Given the description of an element on the screen output the (x, y) to click on. 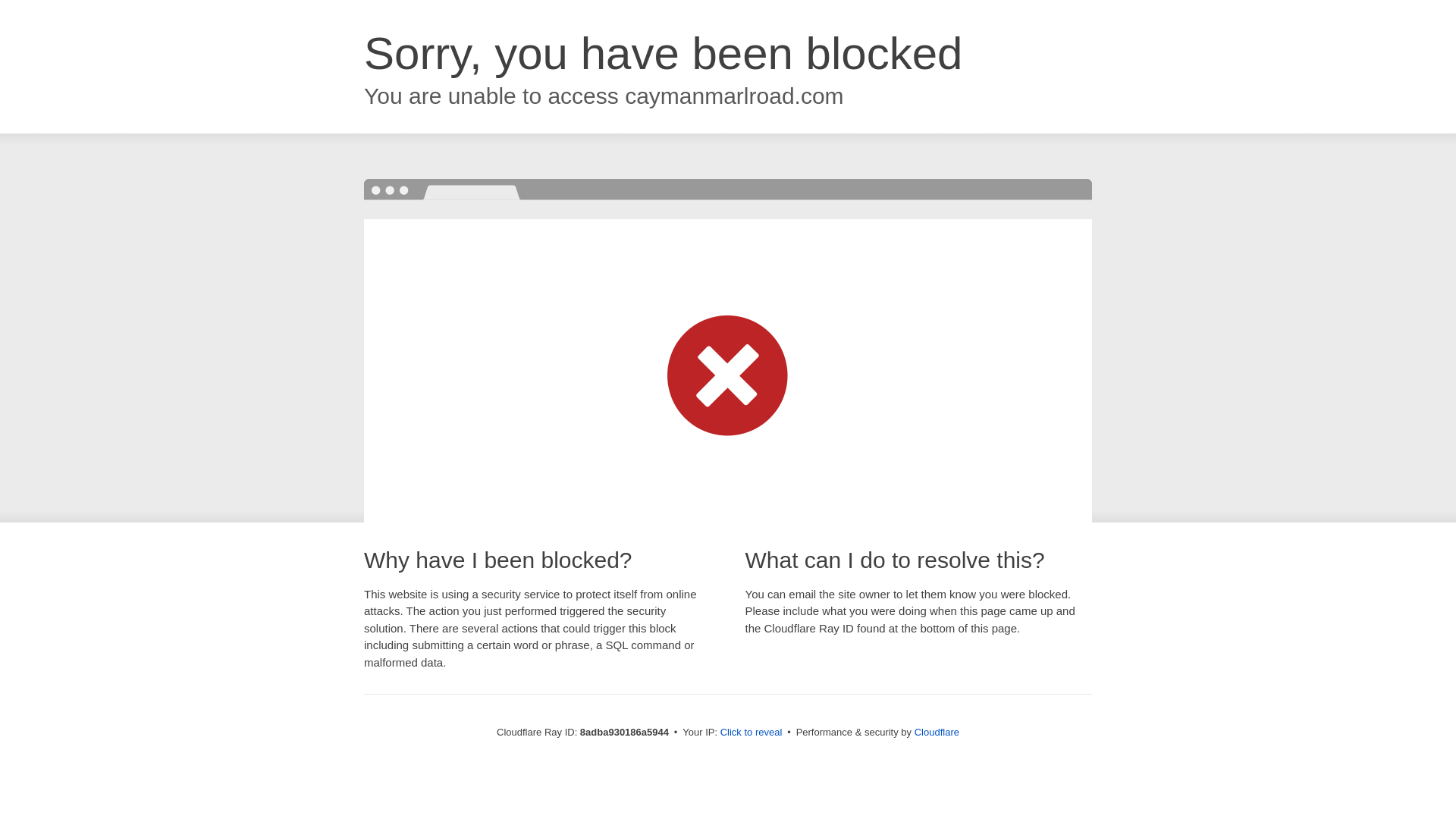
Click to reveal (751, 732)
Cloudflare (936, 731)
